Given the description of an element on the screen output the (x, y) to click on. 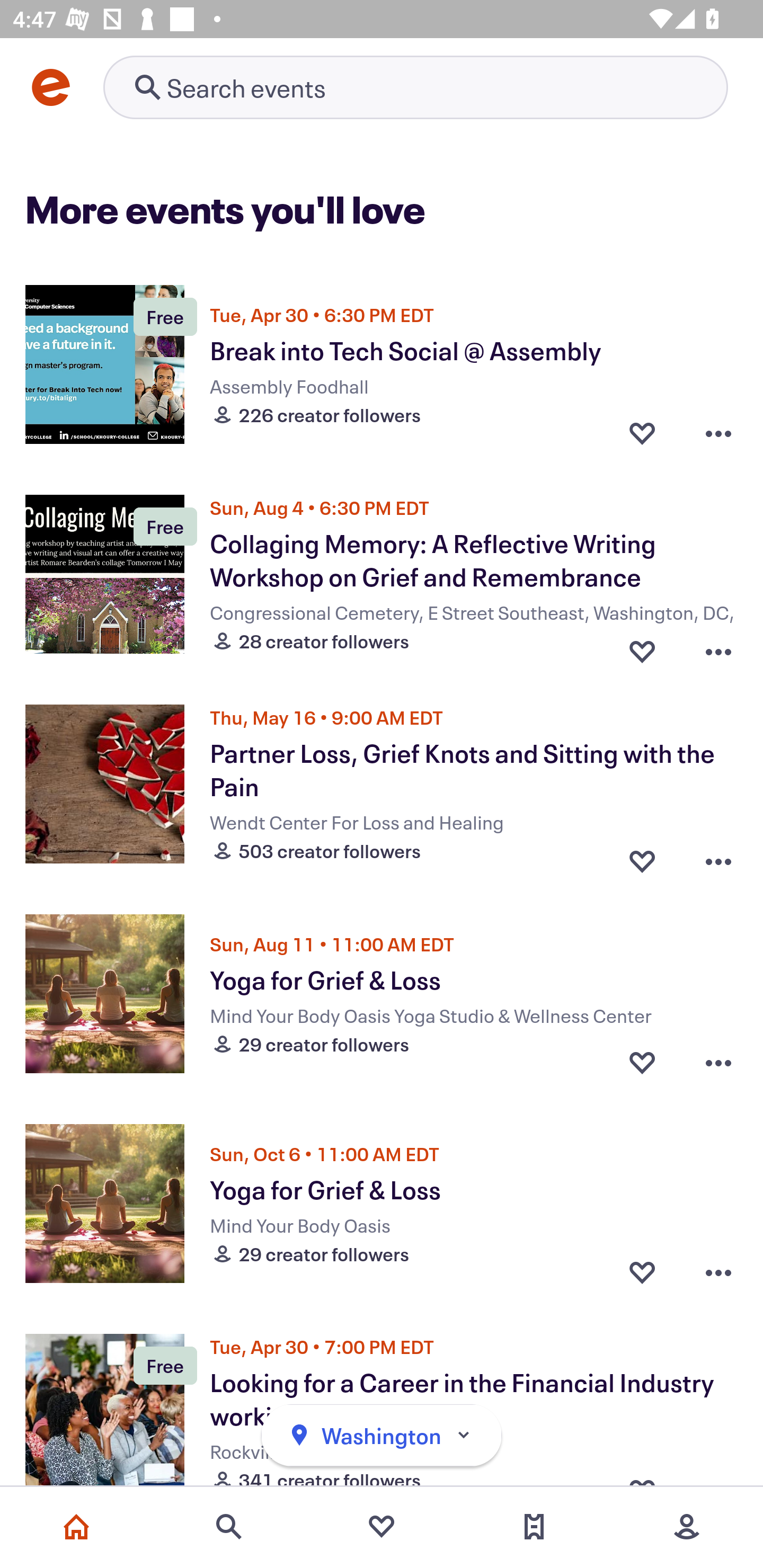
Retry's image Search events (415, 86)
Favorite button (642, 431)
Overflow menu button (718, 431)
Favorite button (642, 646)
Overflow menu button (718, 646)
Favorite button (642, 856)
Overflow menu button (718, 856)
Favorite button (642, 1062)
Overflow menu button (718, 1062)
Favorite button (642, 1271)
Overflow menu button (718, 1271)
Washington (381, 1435)
Home (76, 1526)
Search events (228, 1526)
Favorites (381, 1526)
Tickets (533, 1526)
More (686, 1526)
